Given the description of an element on the screen output the (x, y) to click on. 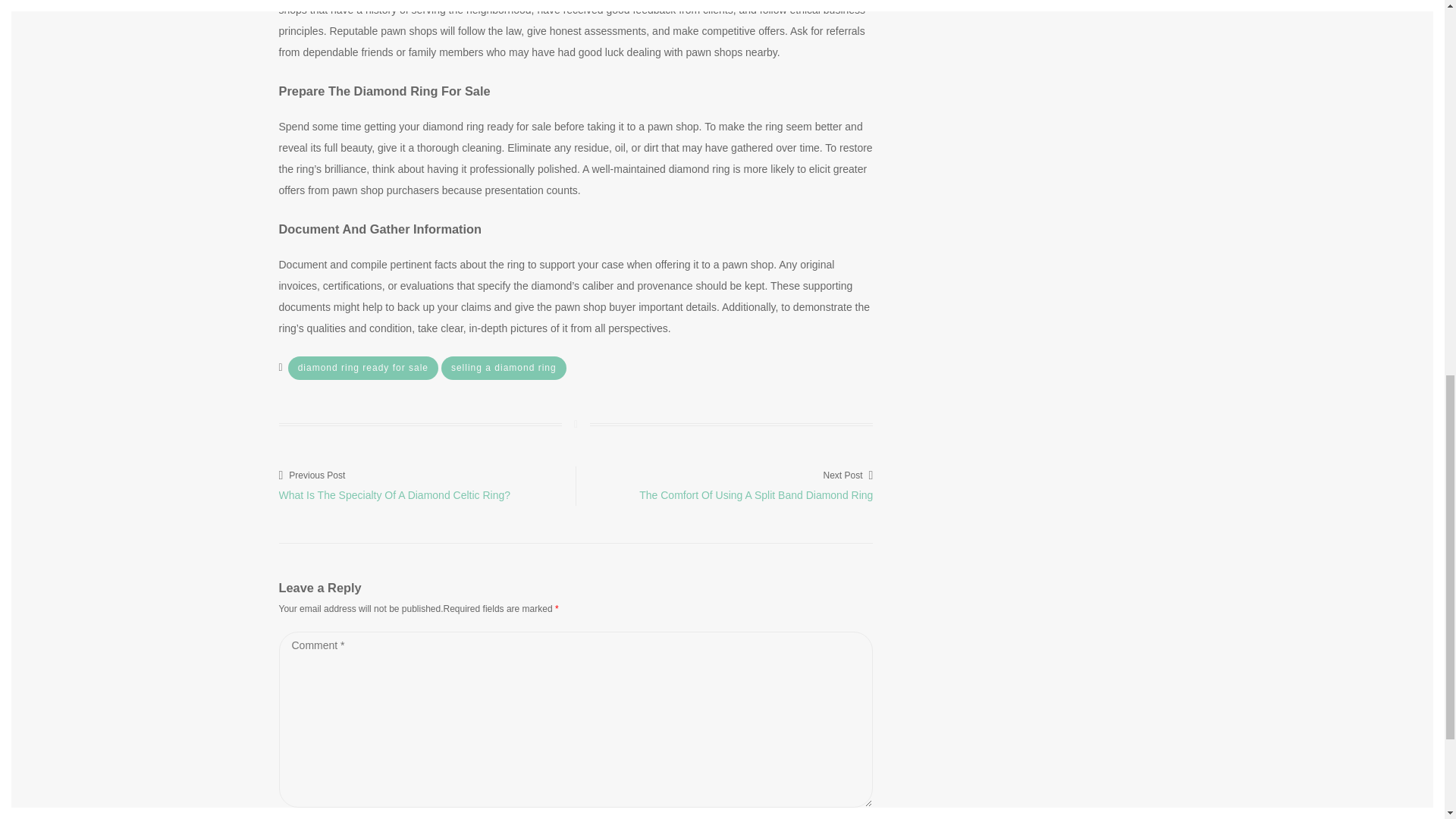
diamond ring ready for sale (363, 368)
selling a diamond ring (503, 368)
